Given the description of an element on the screen output the (x, y) to click on. 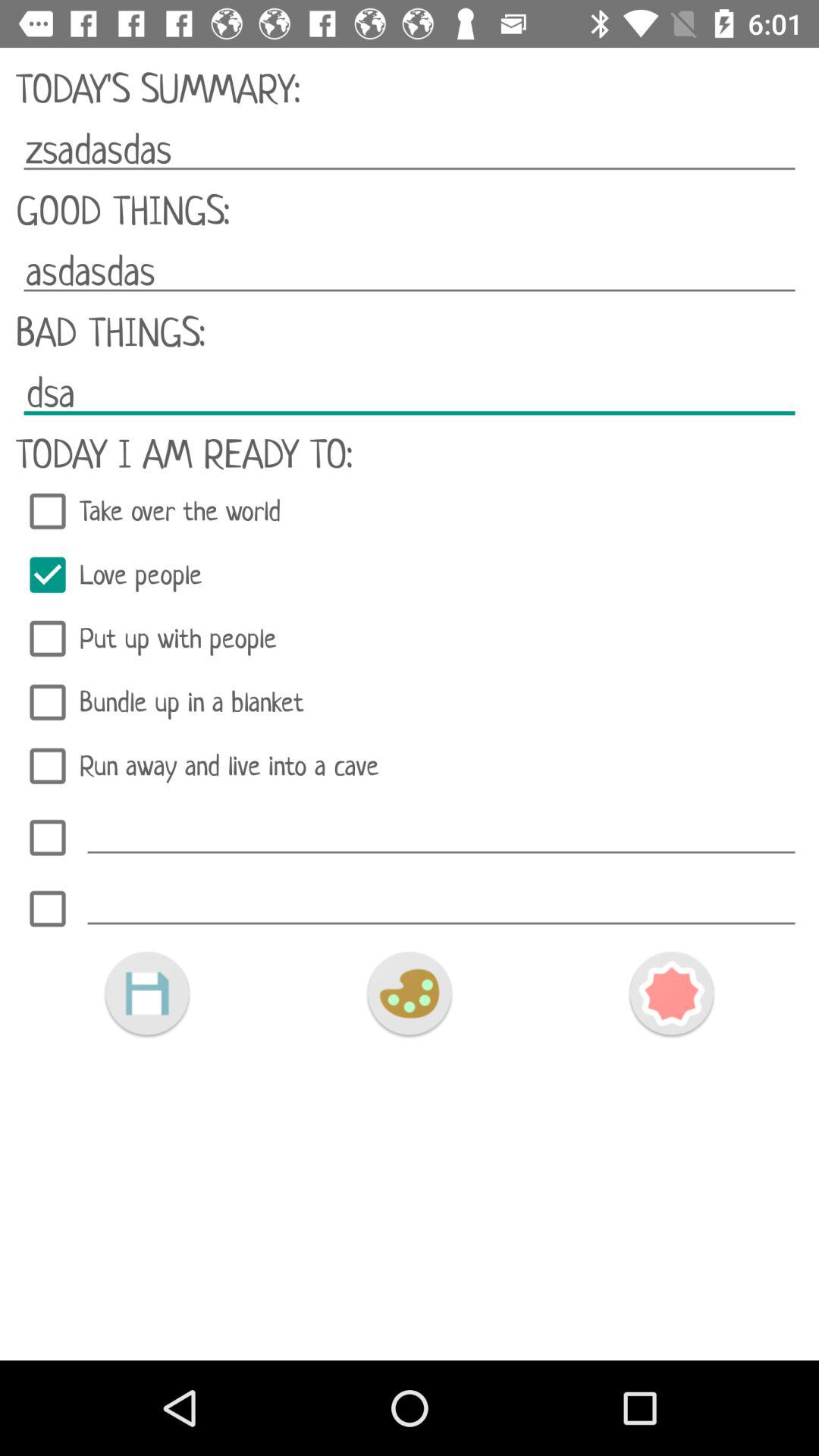
turn off the icon at the bottom left corner (146, 993)
